Given the description of an element on the screen output the (x, y) to click on. 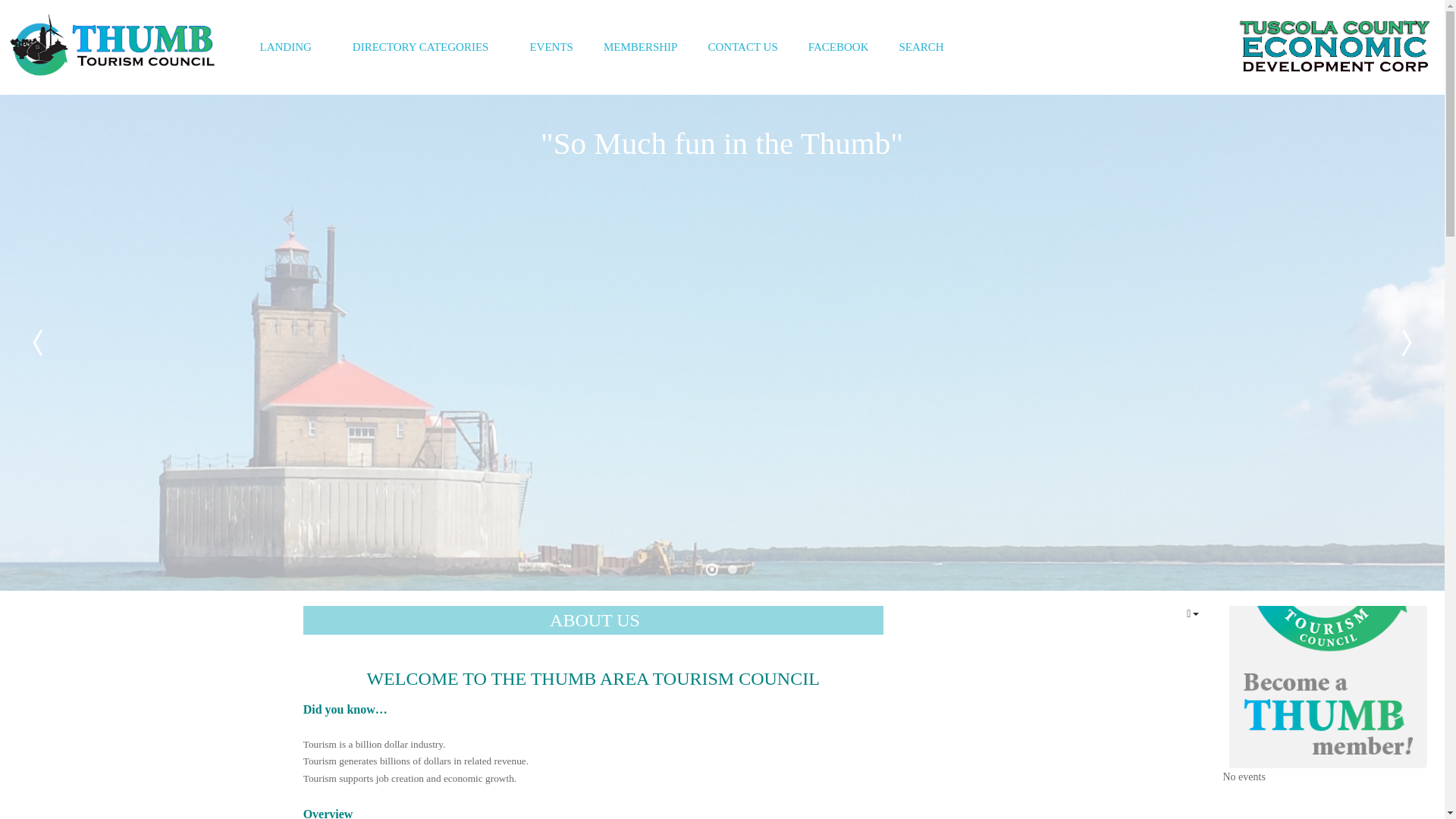
MEMBERSHIP (640, 47)
CONTACT US (742, 47)
DIRECTORY CATEGORIES (426, 47)
FACEBOOK (838, 47)
SEARCH (921, 47)
Thumb Tourism and Tuscola EDC (111, 47)
LANDING (290, 47)
EVENTS (550, 47)
Thumb Tourism and Tuscola EDC (1333, 47)
